Given the description of an element on the screen output the (x, y) to click on. 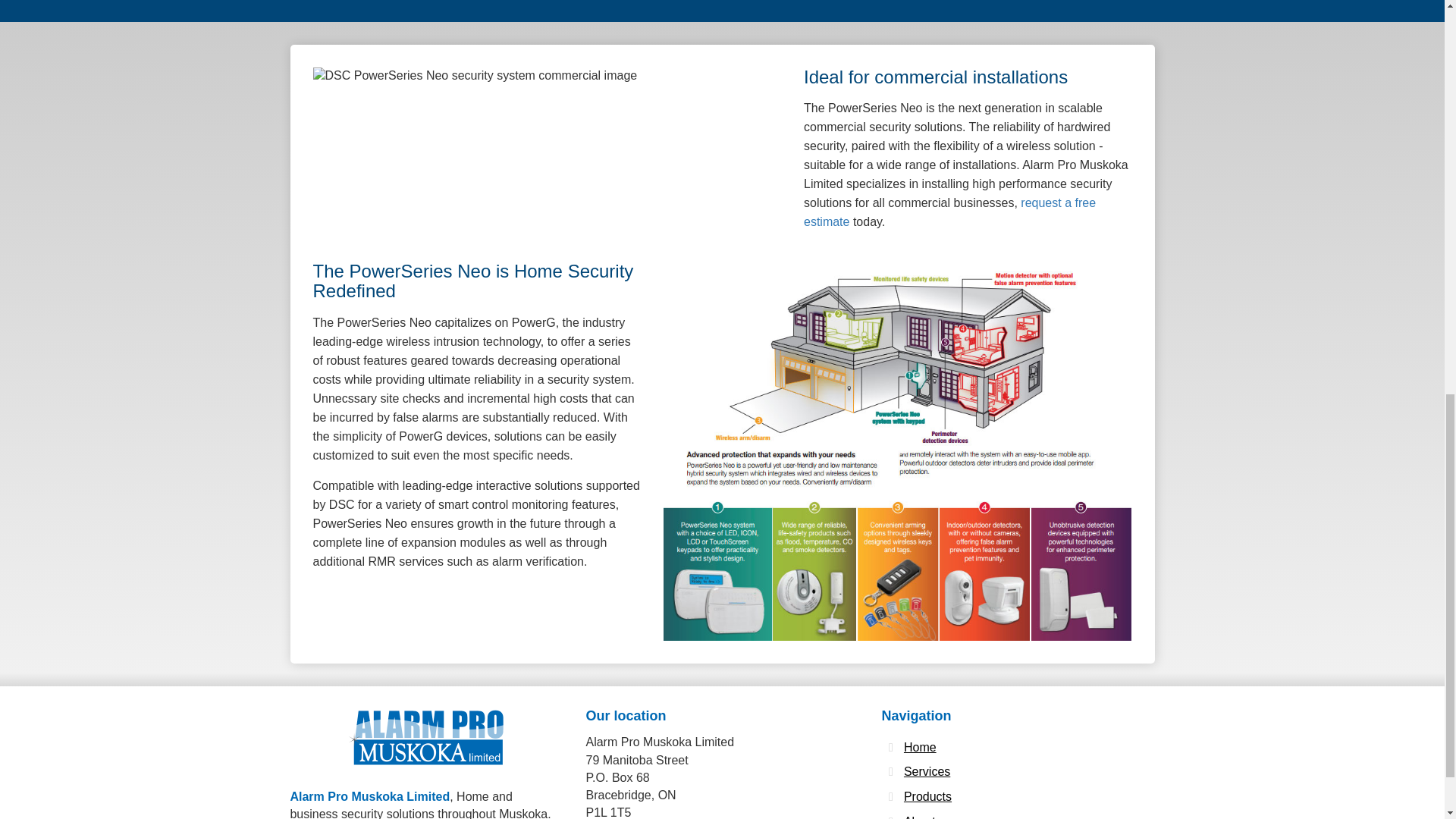
Products (928, 796)
About us (928, 816)
Services (927, 772)
Home (920, 747)
request a free estimate (949, 212)
